Given the description of an element on the screen output the (x, y) to click on. 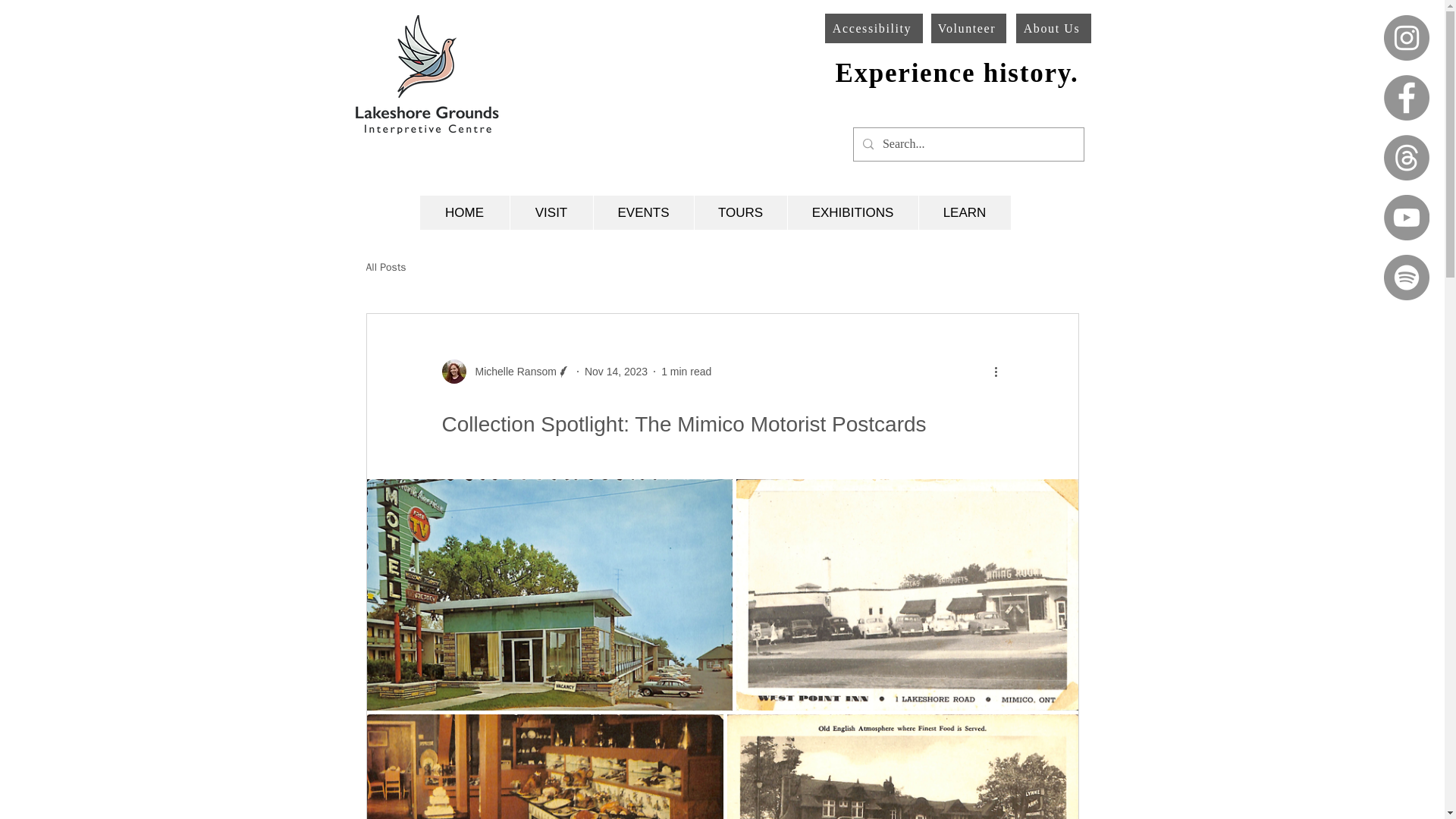
VISIT (550, 212)
TOURS (739, 212)
EXHIBITIONS (852, 212)
HOME (464, 212)
About Us (1053, 28)
Volunteer (968, 28)
1 min read (686, 371)
Michelle Ransom (510, 371)
LEARN (963, 212)
